Given the description of an element on the screen output the (x, y) to click on. 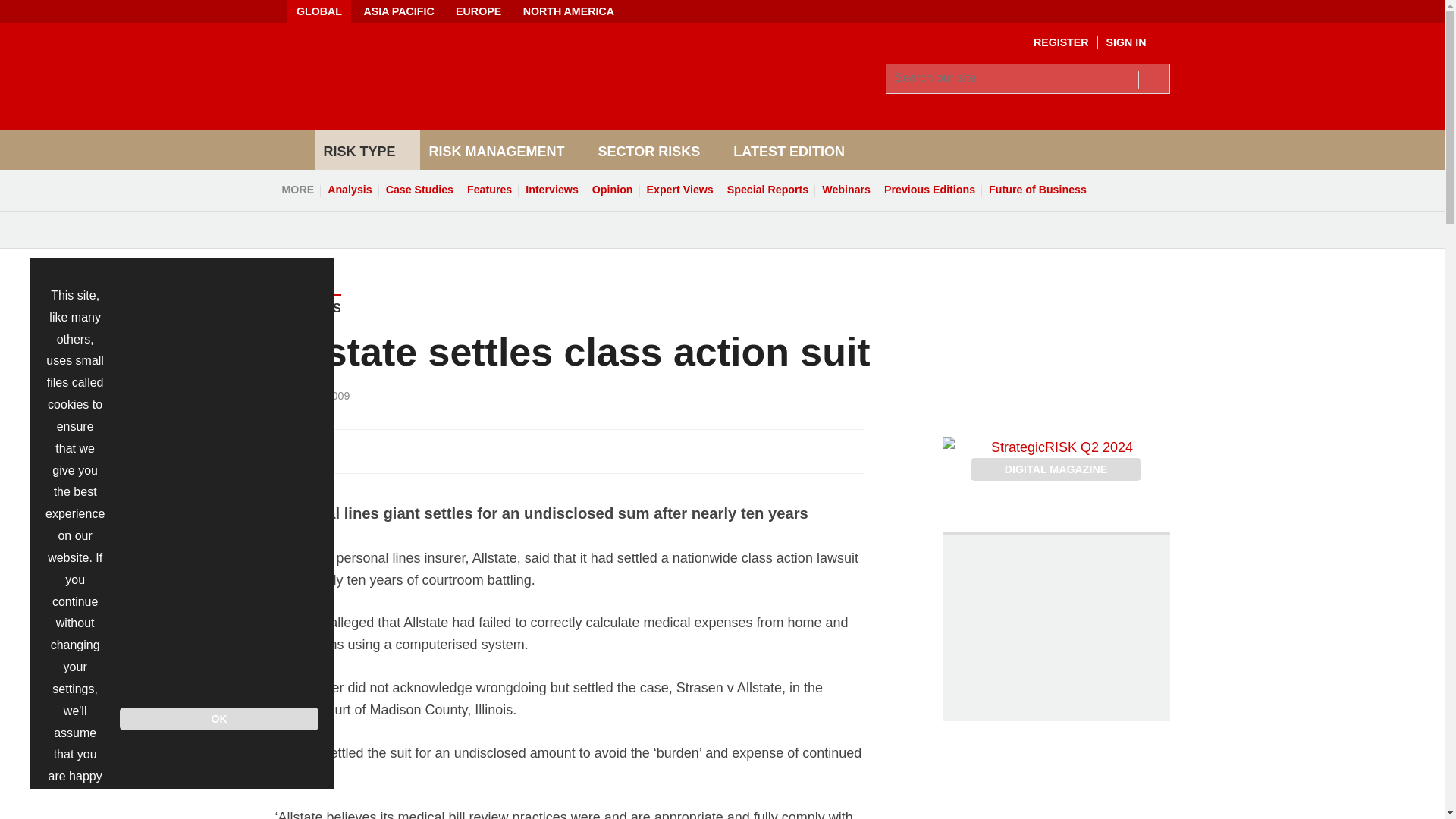
EUROPE (478, 11)
Share this on Linked in (352, 451)
NORTH AMERICA (568, 11)
Future of Business (1037, 189)
Insert Logo text (457, 106)
Features (489, 189)
Share this on Twitter (320, 451)
Case Studies (419, 189)
Previous Editions (929, 189)
GLOBAL (318, 11)
